Given the description of an element on the screen output the (x, y) to click on. 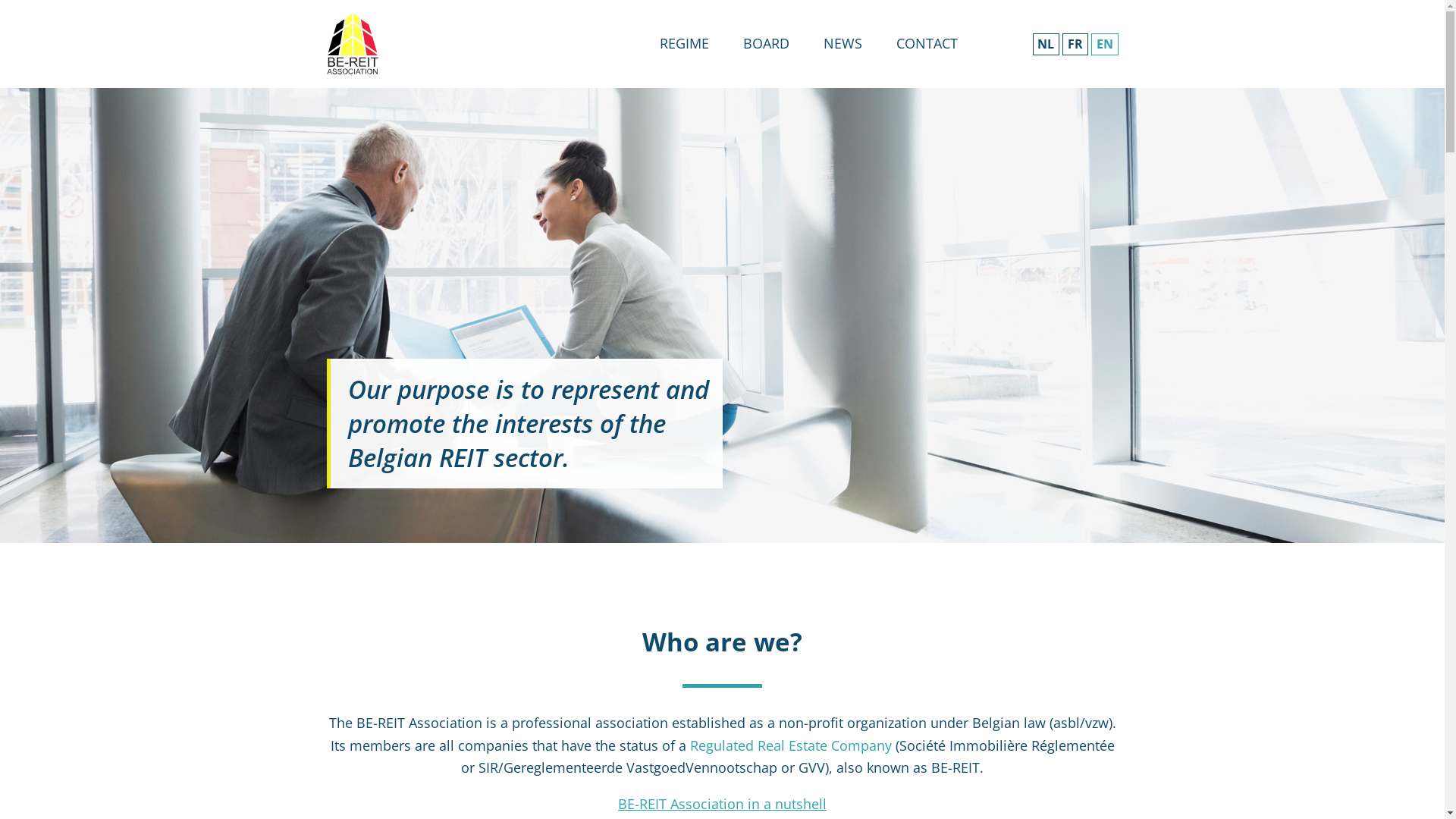
REGIME Element type: text (684, 43)
BOARD Element type: text (766, 43)
FR Element type: text (1074, 44)
EN Element type: text (1104, 44)
CONTACT Element type: text (926, 43)
BE-REIT Association in a nutshell Element type: text (722, 803)
NL Element type: text (1045, 44)
NEWS Element type: text (842, 43)
